Given the description of an element on the screen output the (x, y) to click on. 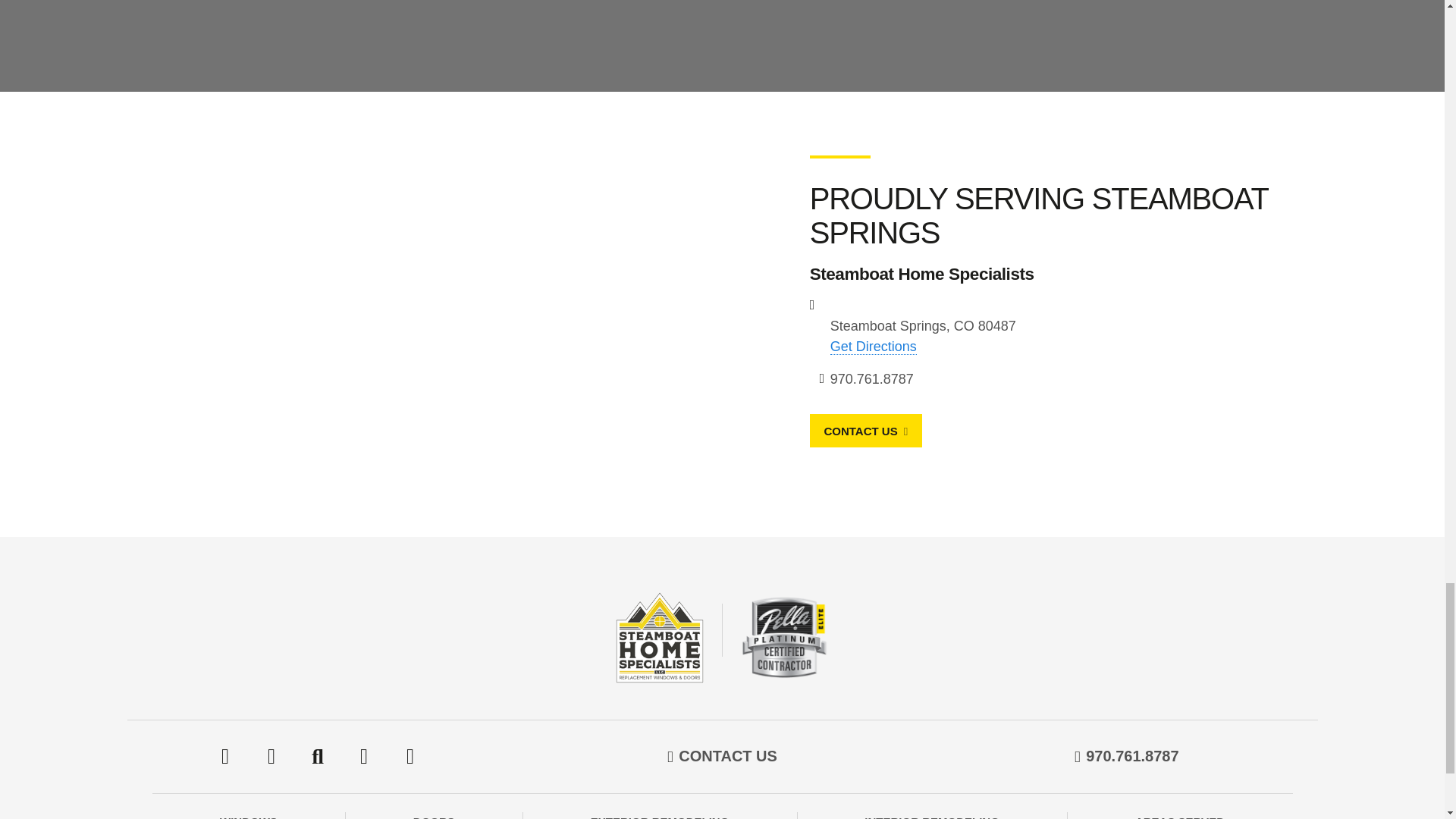
AREAS SERVED (1179, 816)
EXTERIOR REMODELING (660, 816)
970.761.8787 (757, 378)
WINDOWS (248, 816)
970.761.8787 (1131, 757)
CONTACT US (764, 430)
Get Directions (730, 346)
INTERIOR REMODELING (931, 816)
CONTACT US (727, 757)
Steamboat Home Specialists (721, 636)
DOORS (433, 816)
